Given the description of an element on the screen output the (x, y) to click on. 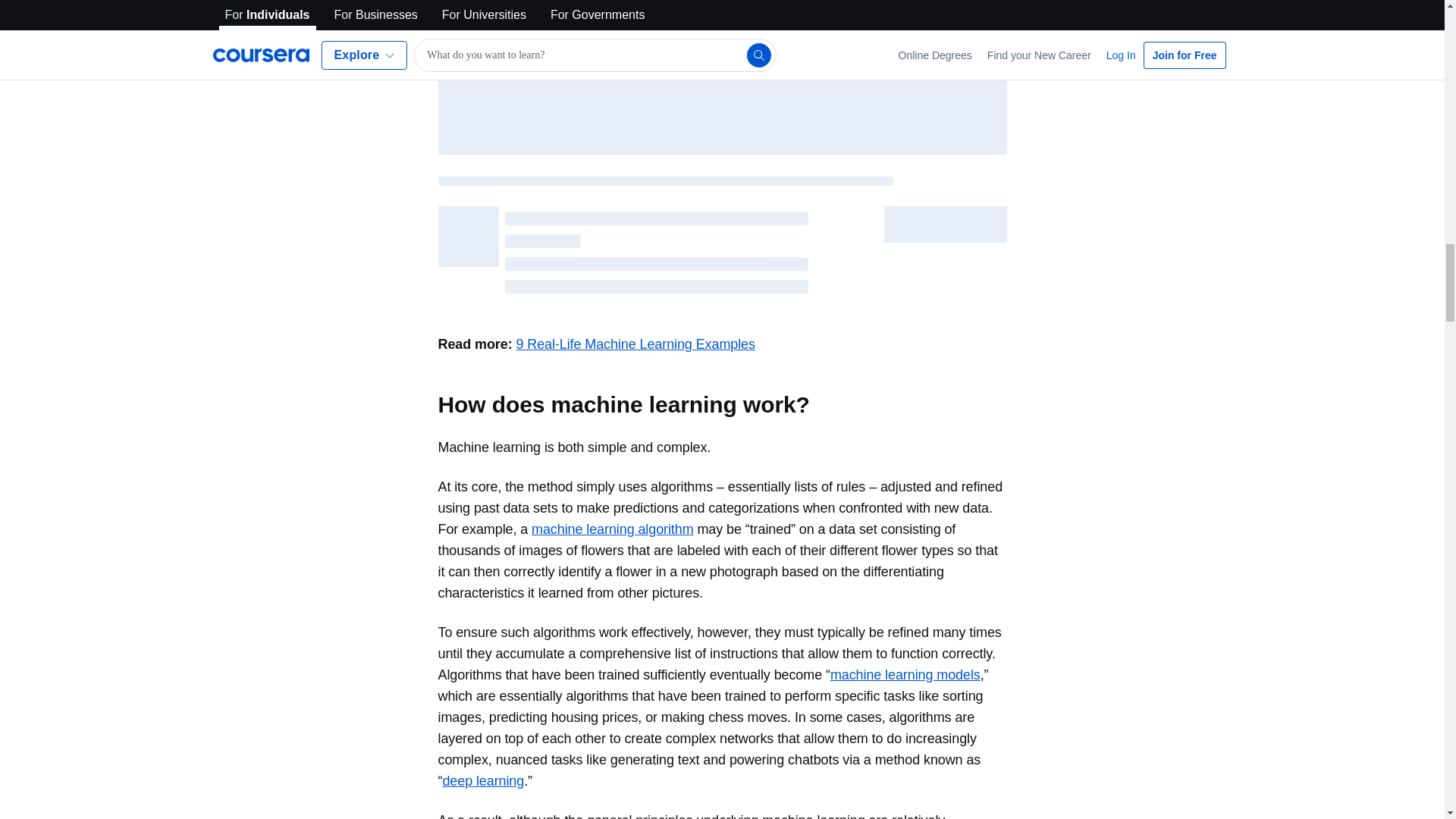
machine learning models (904, 674)
deep learning (483, 780)
machine learning algorithm (612, 529)
9 Real-Life Machine Learning Examples (634, 344)
